Given the description of an element on the screen output the (x, y) to click on. 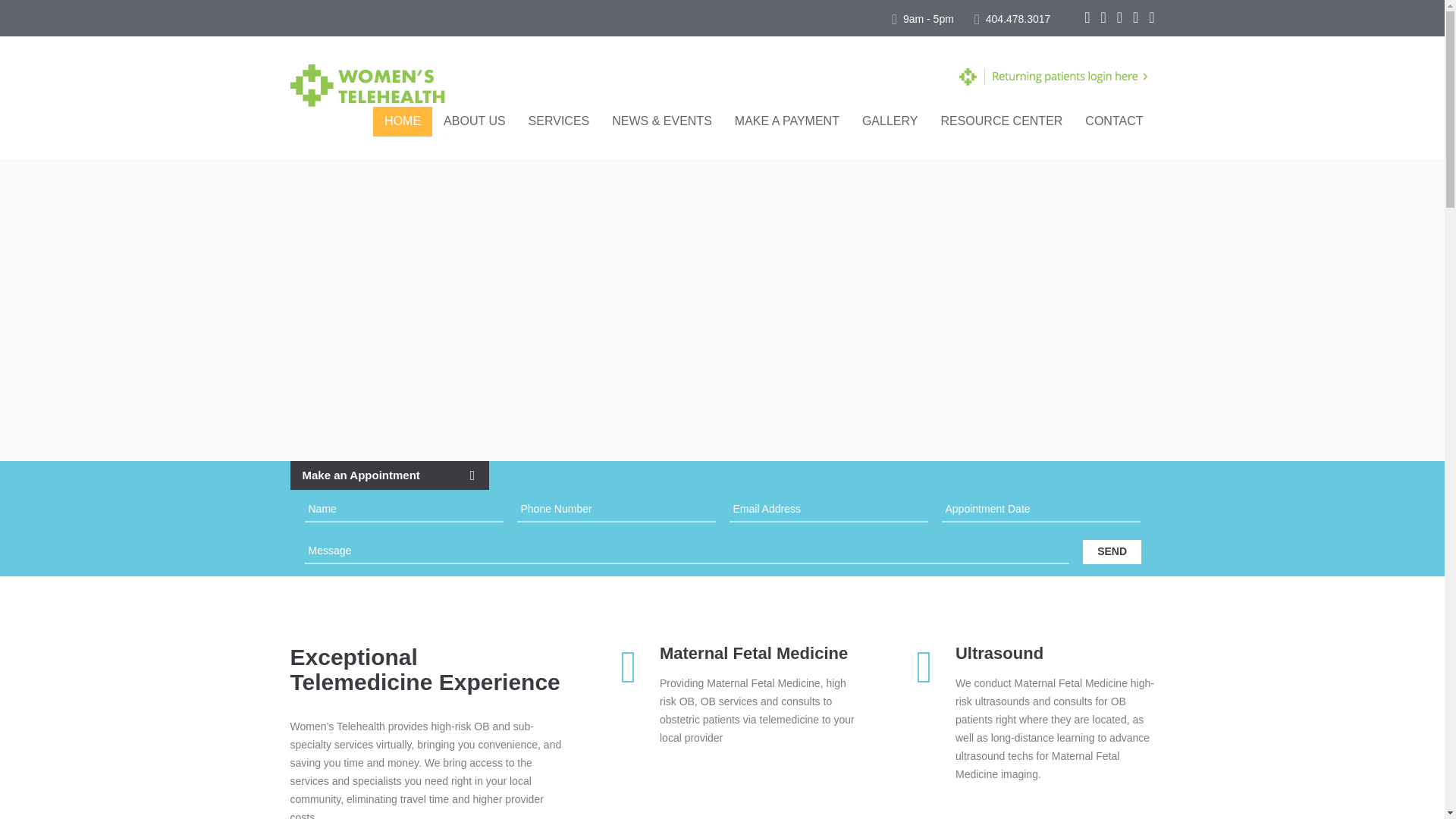
GALLERY (890, 121)
SEND (1112, 551)
SEND (1112, 551)
SERVICES (558, 121)
HOME (402, 121)
RESOURCE CENTER (1001, 121)
ABOUT US (474, 121)
CONTACT (1114, 121)
MAKE A PAYMENT (786, 121)
